Given the description of an element on the screen output the (x, y) to click on. 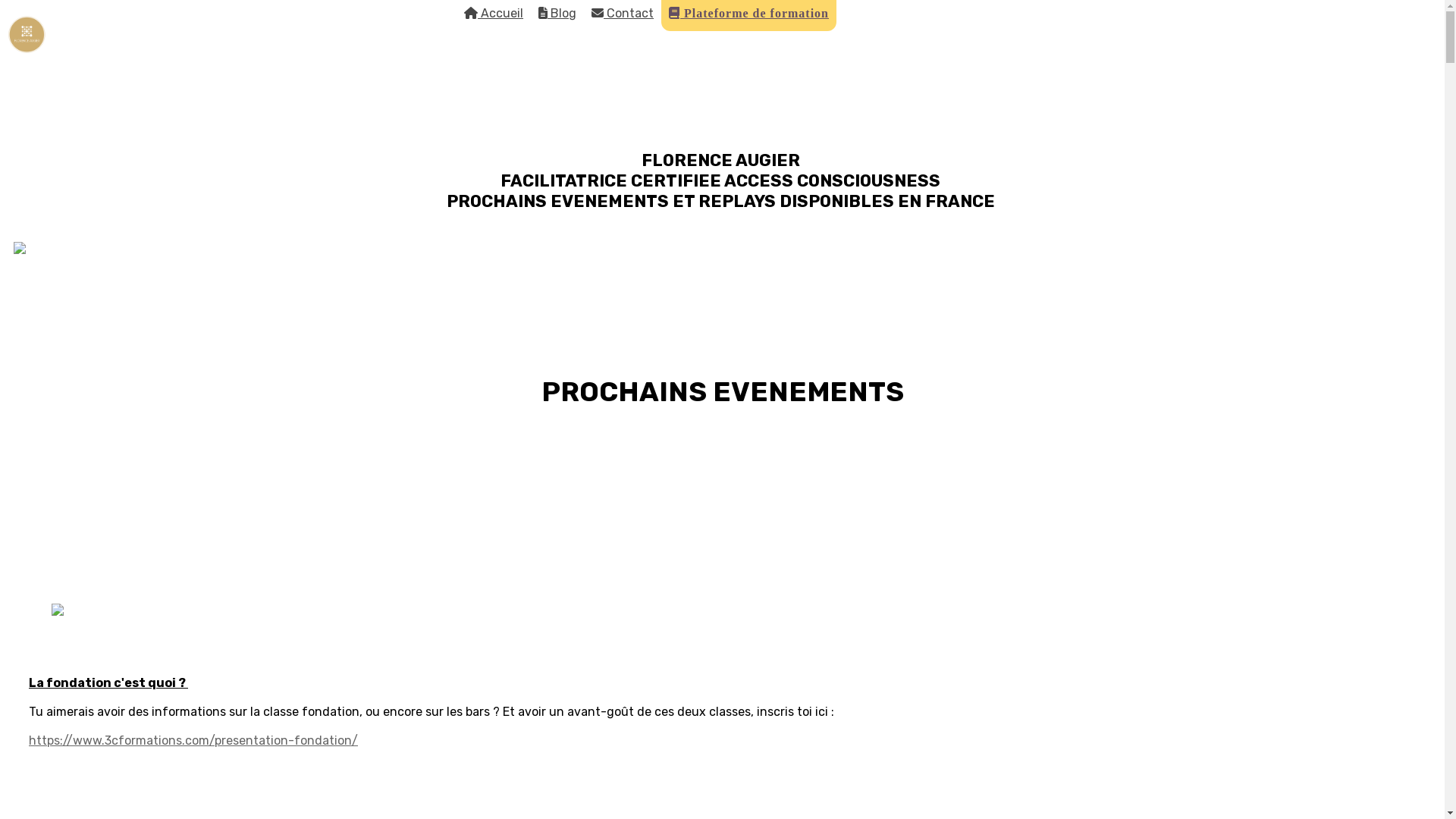
https://www.3cformations.com/presentation-fondation/ Element type: text (192, 740)
